Given the description of an element on the screen output the (x, y) to click on. 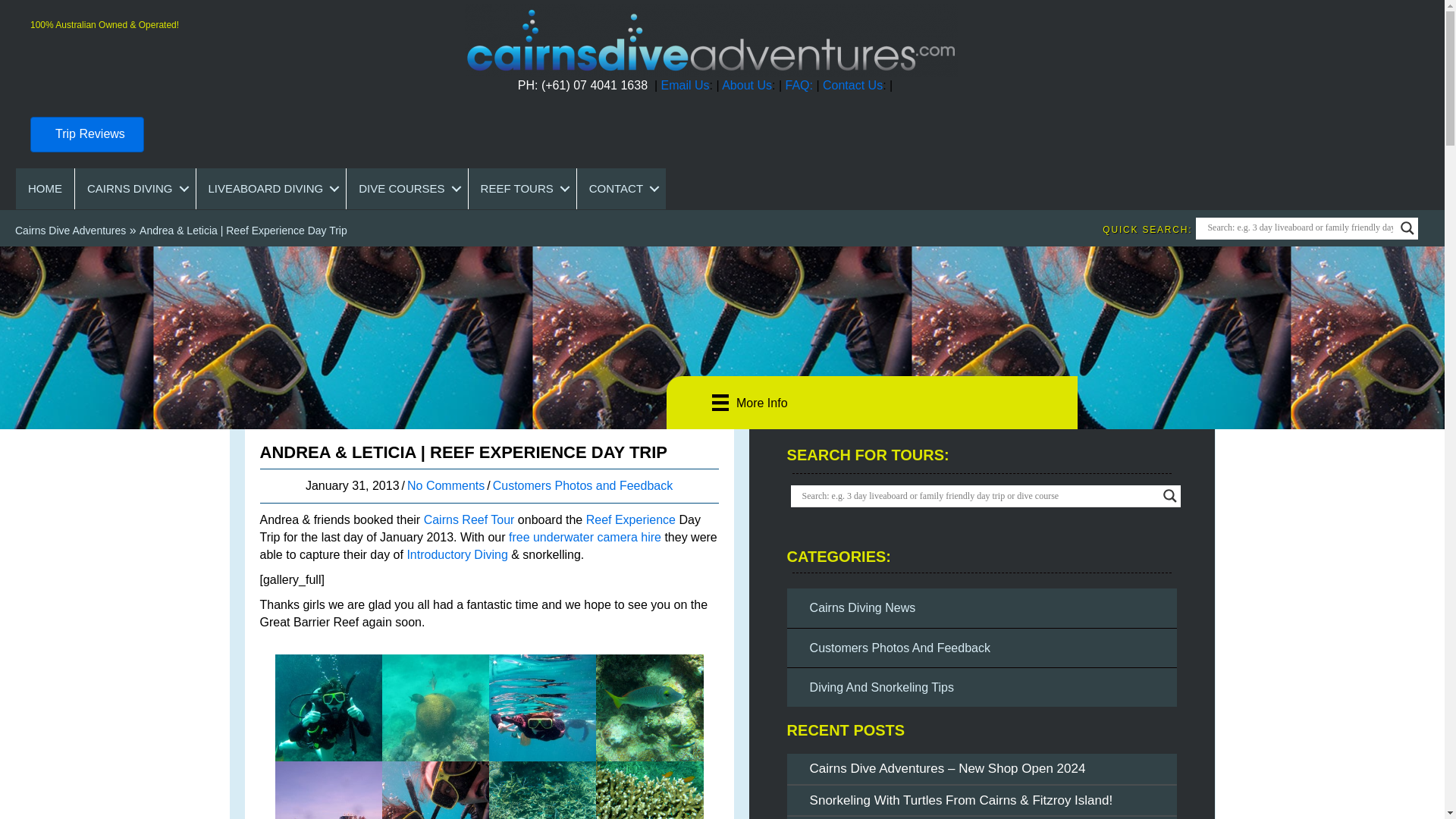
Cairns Reef Tours (522, 188)
FAQ (796, 84)
CAIRNS DIVING (135, 188)
Cairns Dive Adventures (69, 230)
CONTACT (620, 188)
Learn to dive in Cairns (406, 188)
Cairns Dive Adventures Logo (710, 40)
Cairns Liveaboard Diving (271, 188)
HOME (45, 188)
Trip Reviews (87, 134)
